Given the description of an element on the screen output the (x, y) to click on. 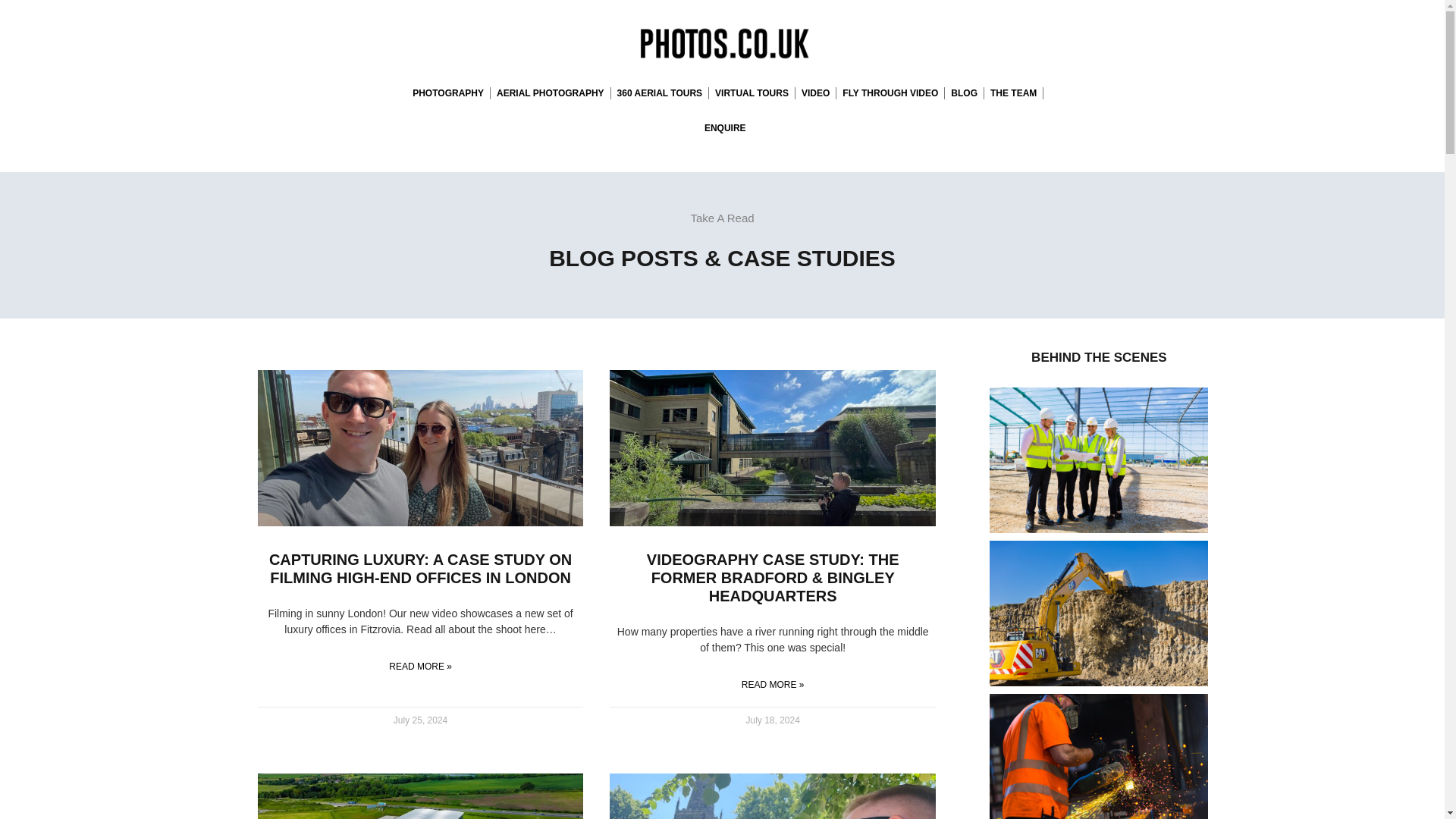
BLOG (964, 93)
FLY THROUGH VIDEO (889, 93)
PHOTOGRAPHY (447, 93)
THE TEAM (1013, 93)
VIRTUAL TOURS (751, 93)
ENQUIRE (725, 127)
AERIAL PHOTOGRAPHY (550, 93)
360 AERIAL TOURS (659, 93)
VIDEO (814, 93)
